Given the description of an element on the screen output the (x, y) to click on. 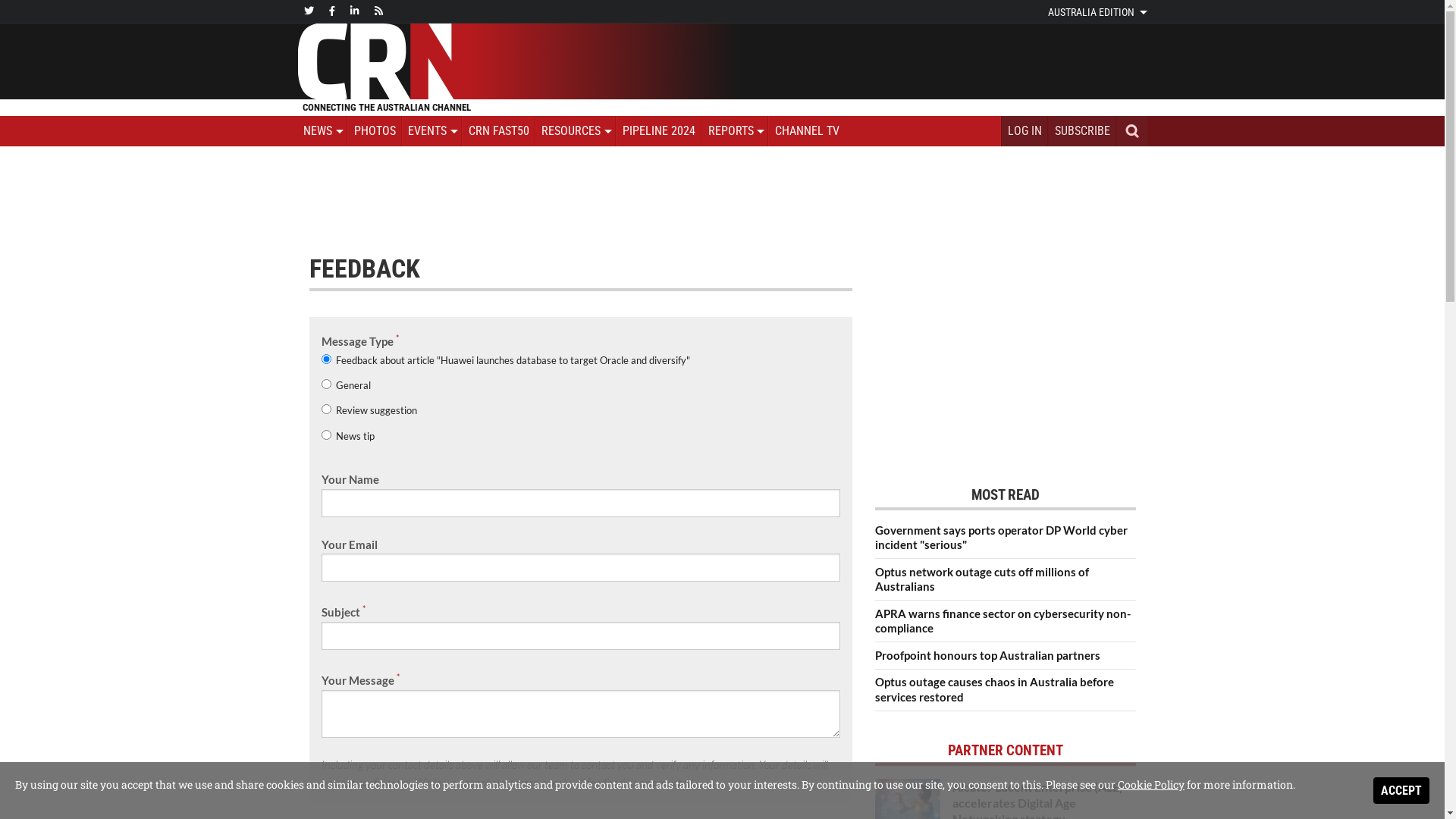
LOG IN Element type: text (1024, 131)
AUSTRALIA EDITION Element type: text (1097, 12)
NEWS Element type: text (322, 131)
CRN FAST50 Element type: text (499, 131)
SUBSCRIBE Element type: text (1082, 131)
Optus network outage cuts off millions of Australians Element type: text (1005, 582)
Cookie Policy Element type: text (1150, 784)
CHANNEL TV Element type: text (806, 131)
ACCEPT Element type: text (1401, 790)
Proofpoint honours top Australian partners Element type: text (1005, 658)
PHOTOS Element type: text (375, 131)
APRA warns finance sector on cybersecurity non-compliance Element type: text (1005, 624)
REPORTS Element type: text (735, 131)
EVENTS Element type: text (432, 131)
RESOURCES Element type: text (576, 131)
  Element type: text (1131, 131)
PIPELINE 2024 Element type: text (659, 131)
PARTNER CONTENT Element type: text (1005, 750)
